Given the description of an element on the screen output the (x, y) to click on. 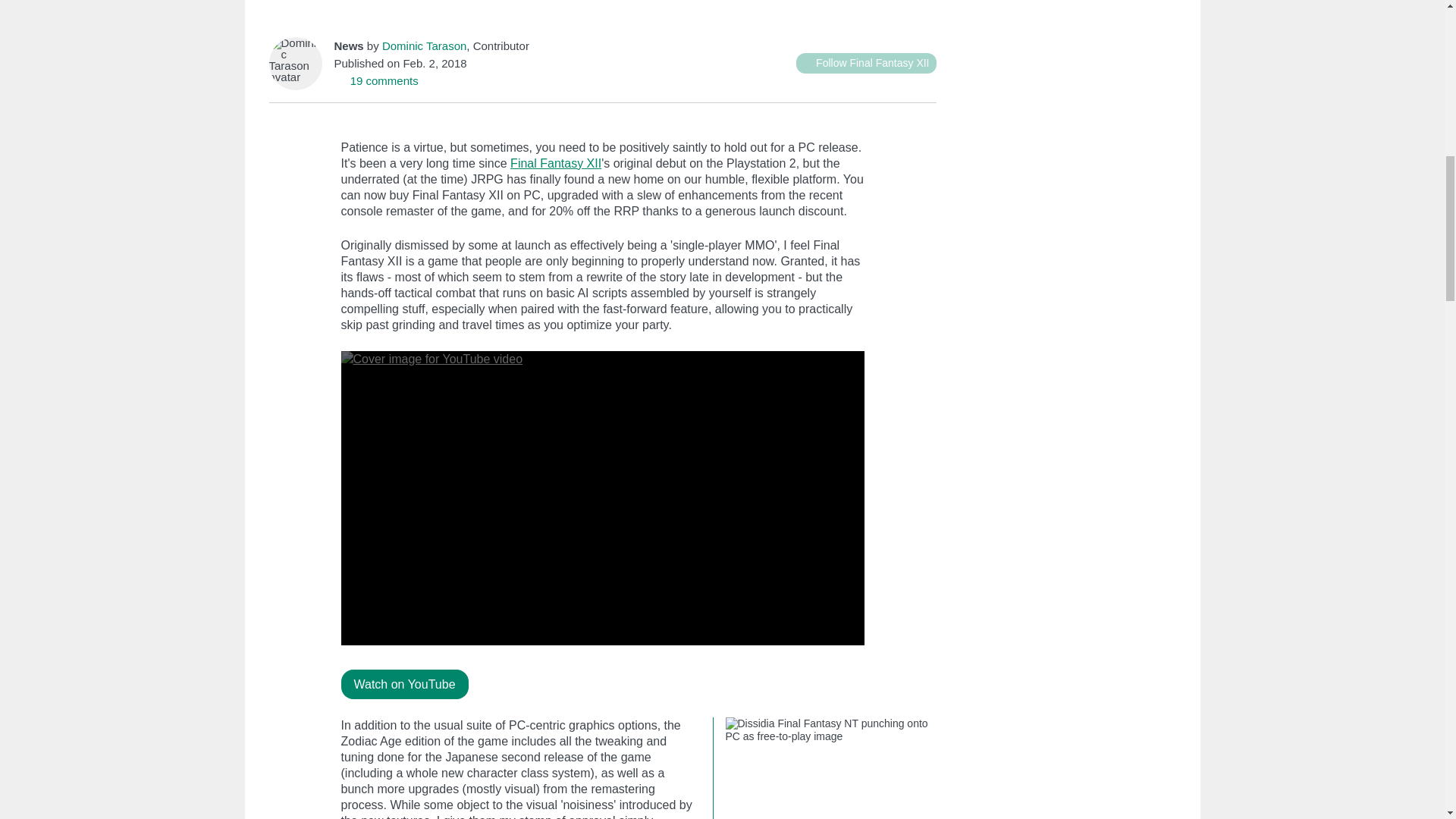
Dominic Tarason (423, 45)
Final Fantasy XII (556, 163)
Follow Final Fantasy XII (866, 63)
Watch on YouTube (404, 684)
19 comments (375, 80)
